Given the description of an element on the screen output the (x, y) to click on. 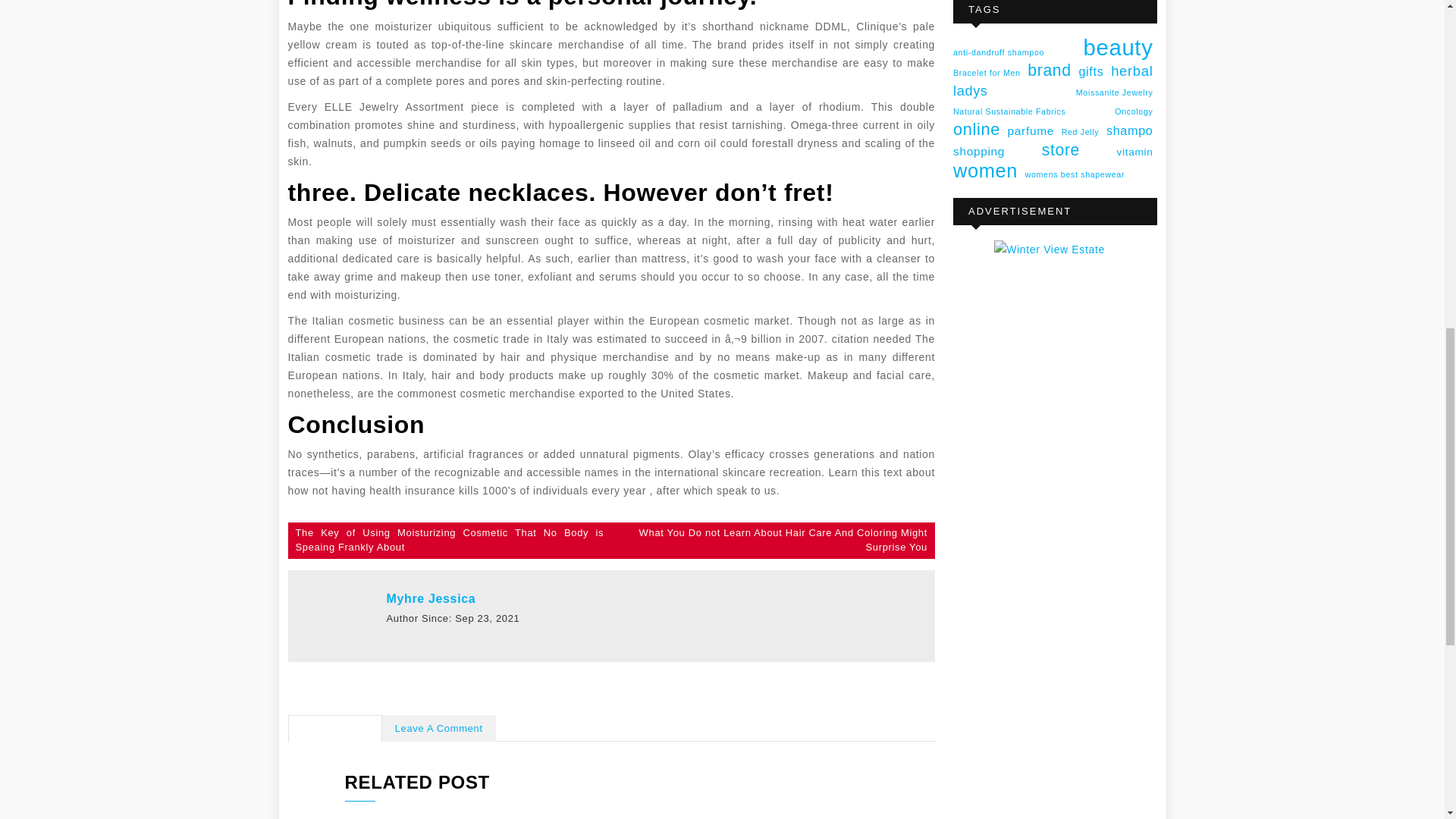
Winter View Estate (1054, 467)
Posts by Myhre Jessica (431, 598)
Leave A Comment (438, 728)
Myhre Jessica (431, 598)
No Comments (334, 728)
